Given the description of an element on the screen output the (x, y) to click on. 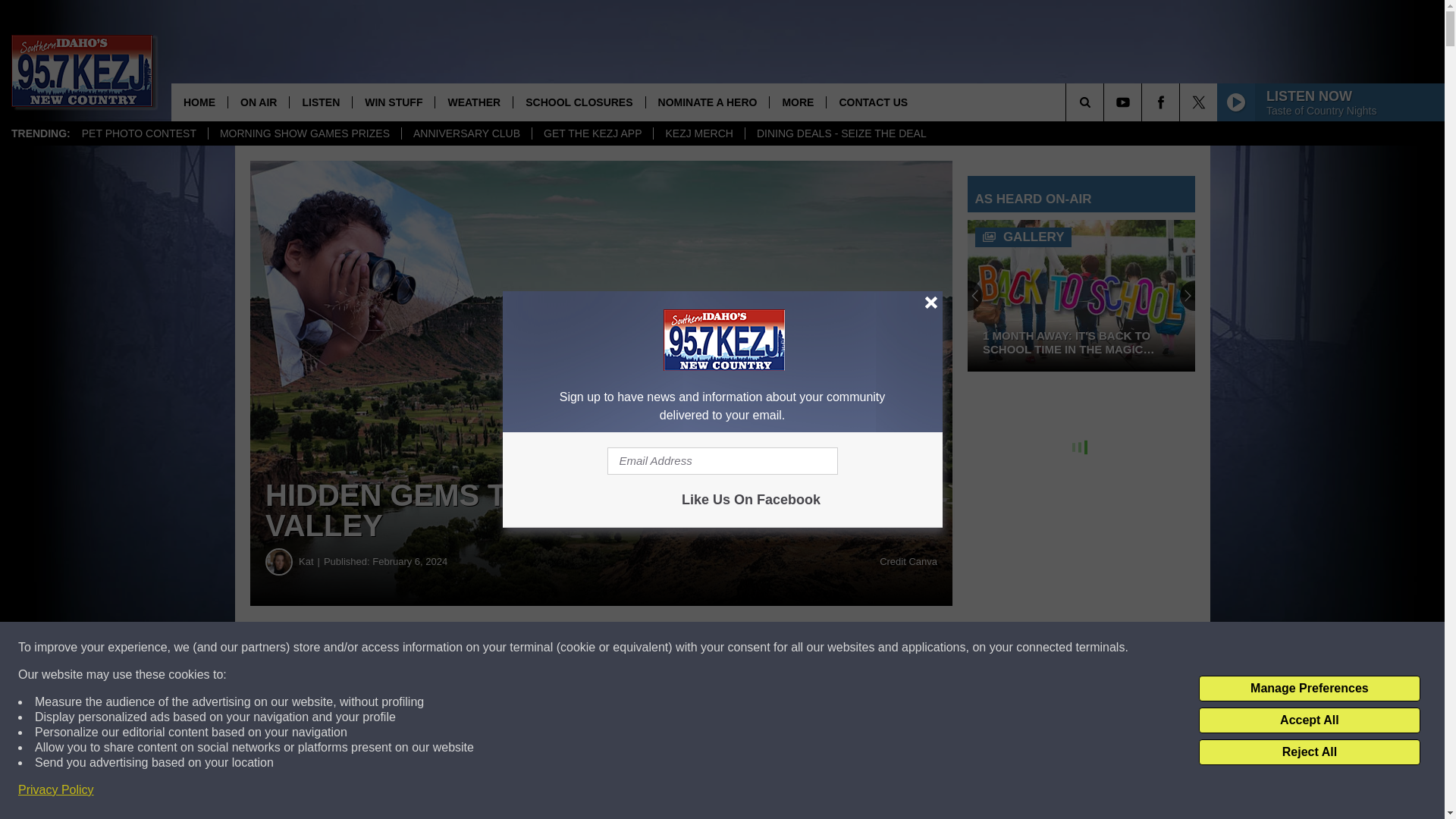
ANNIVERSARY CLUB (466, 133)
Privacy Policy (55, 789)
Accept All (1309, 720)
PET PHOTO CONTEST (138, 133)
LISTEN (320, 102)
Manage Preferences (1309, 688)
KEZJ MERCH (698, 133)
Email Address (722, 461)
GET THE KEZJ APP (591, 133)
SEARCH (1106, 102)
DINING DEALS - SEIZE THE DEAL (840, 133)
HOME (199, 102)
SCHOOL CLOSURES (578, 102)
Reject All (1309, 751)
Share on Facebook (460, 647)
